Given the description of an element on the screen output the (x, y) to click on. 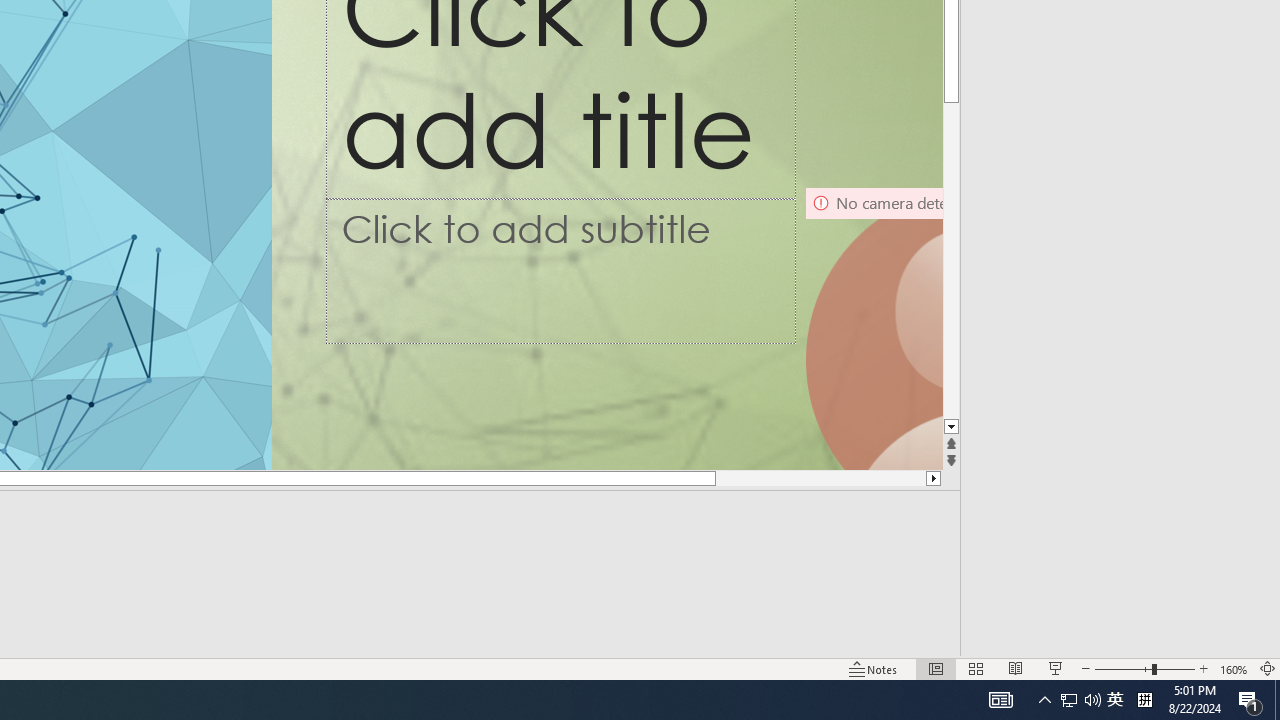
Camera 9, No camera detected. (873, 327)
Zoom 160% (1234, 668)
Subtitle TextBox (561, 271)
Page down (951, 222)
Line down (951, 427)
